Given the description of an element on the screen output the (x, y) to click on. 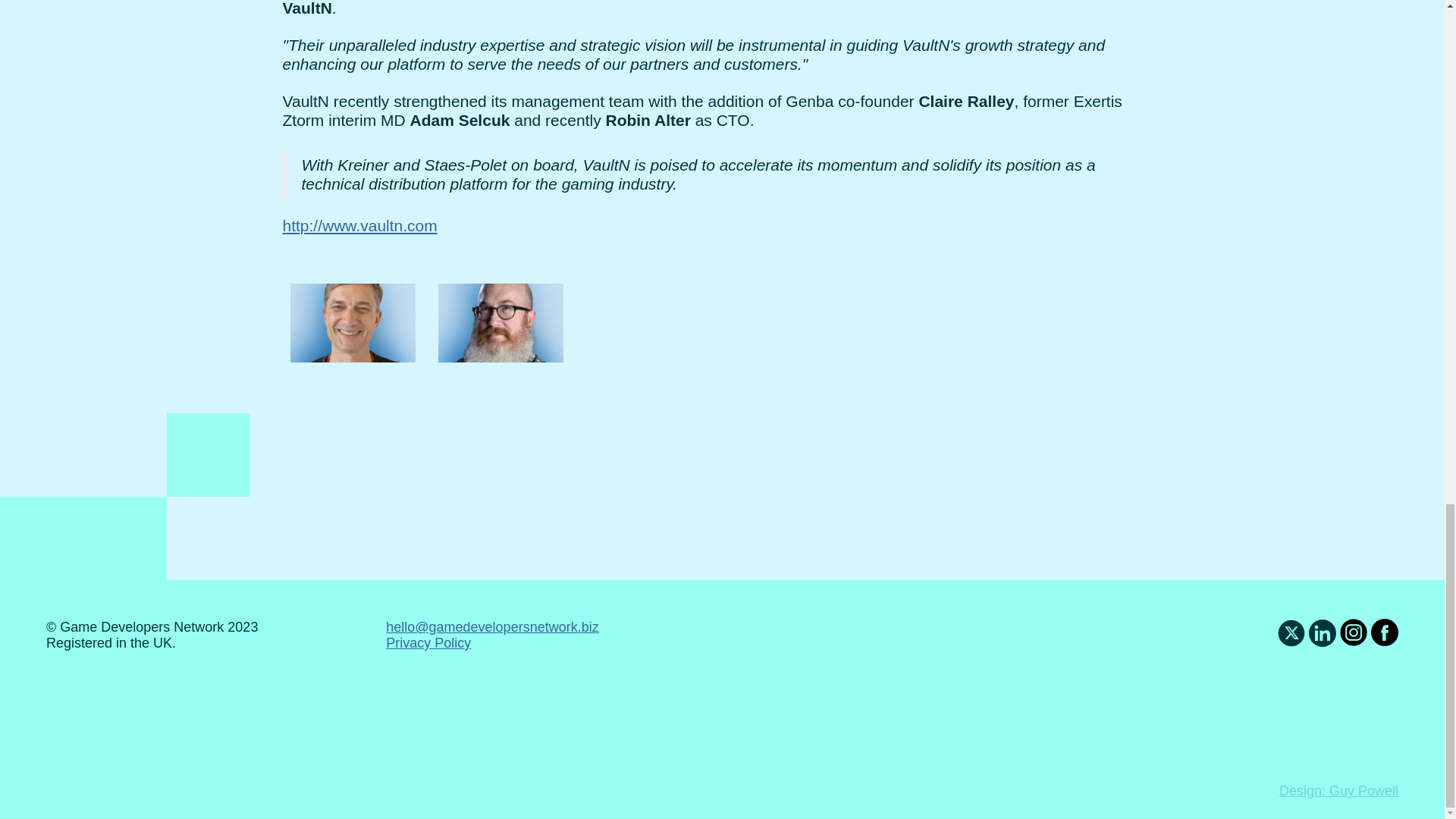
Design: Guy Powell (1338, 790)
linkedin (1323, 642)
Privacy Policy (427, 642)
linkedin (1322, 633)
